Given the description of an element on the screen output the (x, y) to click on. 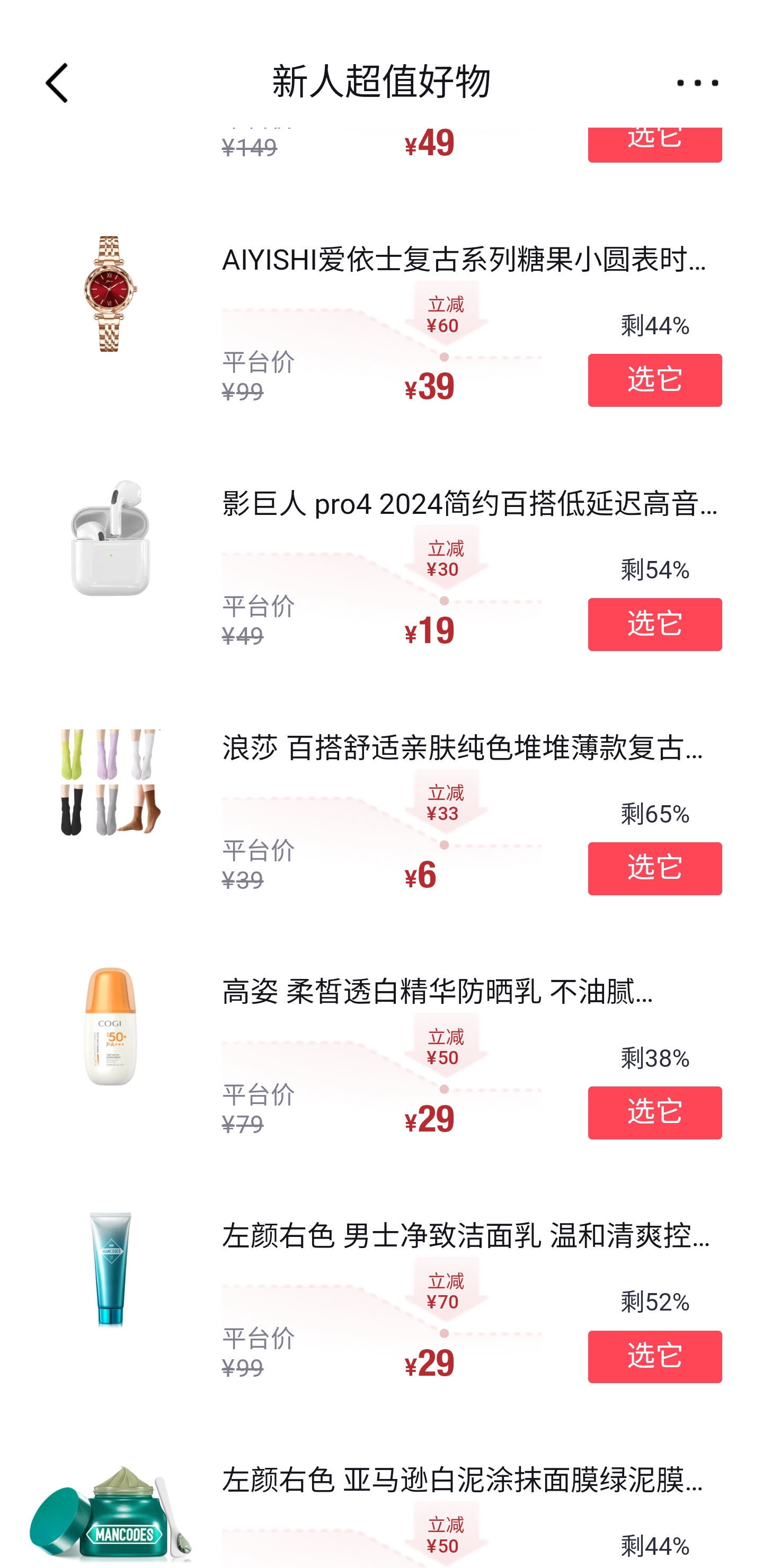
选它 (654, 136)
选它 (654, 379)
选它 (654, 624)
选它 (654, 868)
选它 (654, 1112)
选它 (654, 1356)
